Given the description of an element on the screen output the (x, y) to click on. 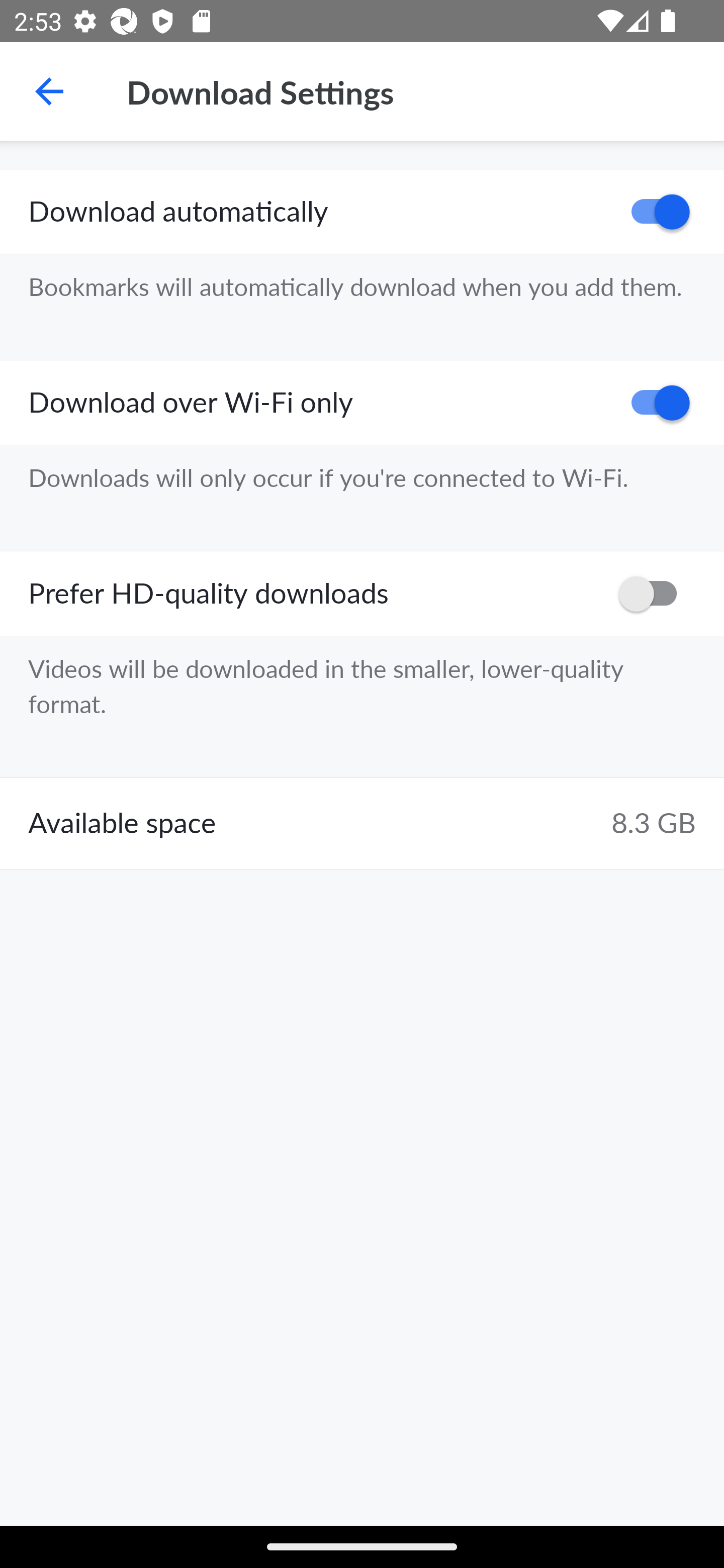
Navigate up (49, 91)
ON (653, 211)
ON (653, 402)
OFF (653, 593)
